Given the description of an element on the screen output the (x, y) to click on. 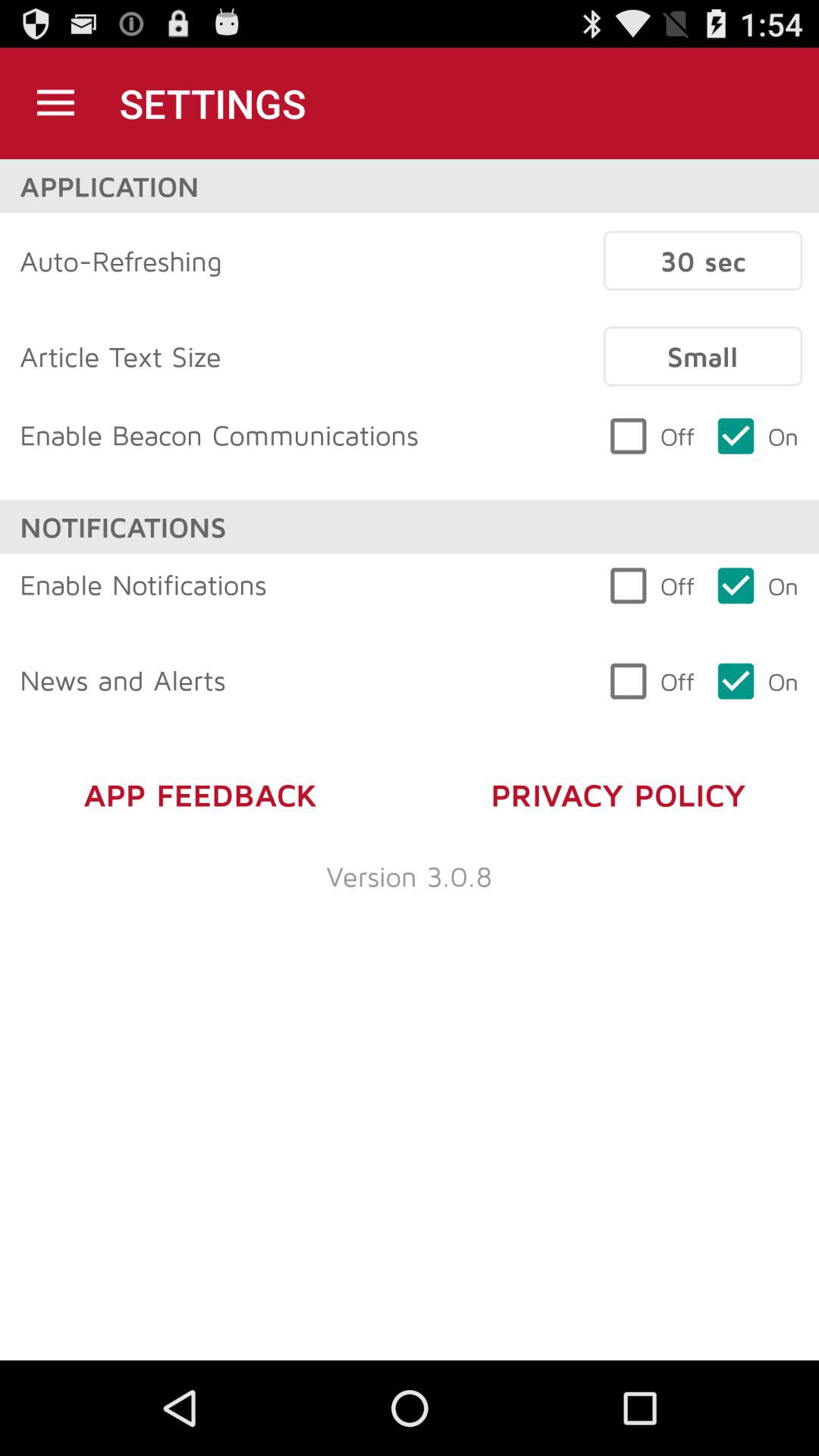
open the item above application (55, 103)
